Given the description of an element on the screen output the (x, y) to click on. 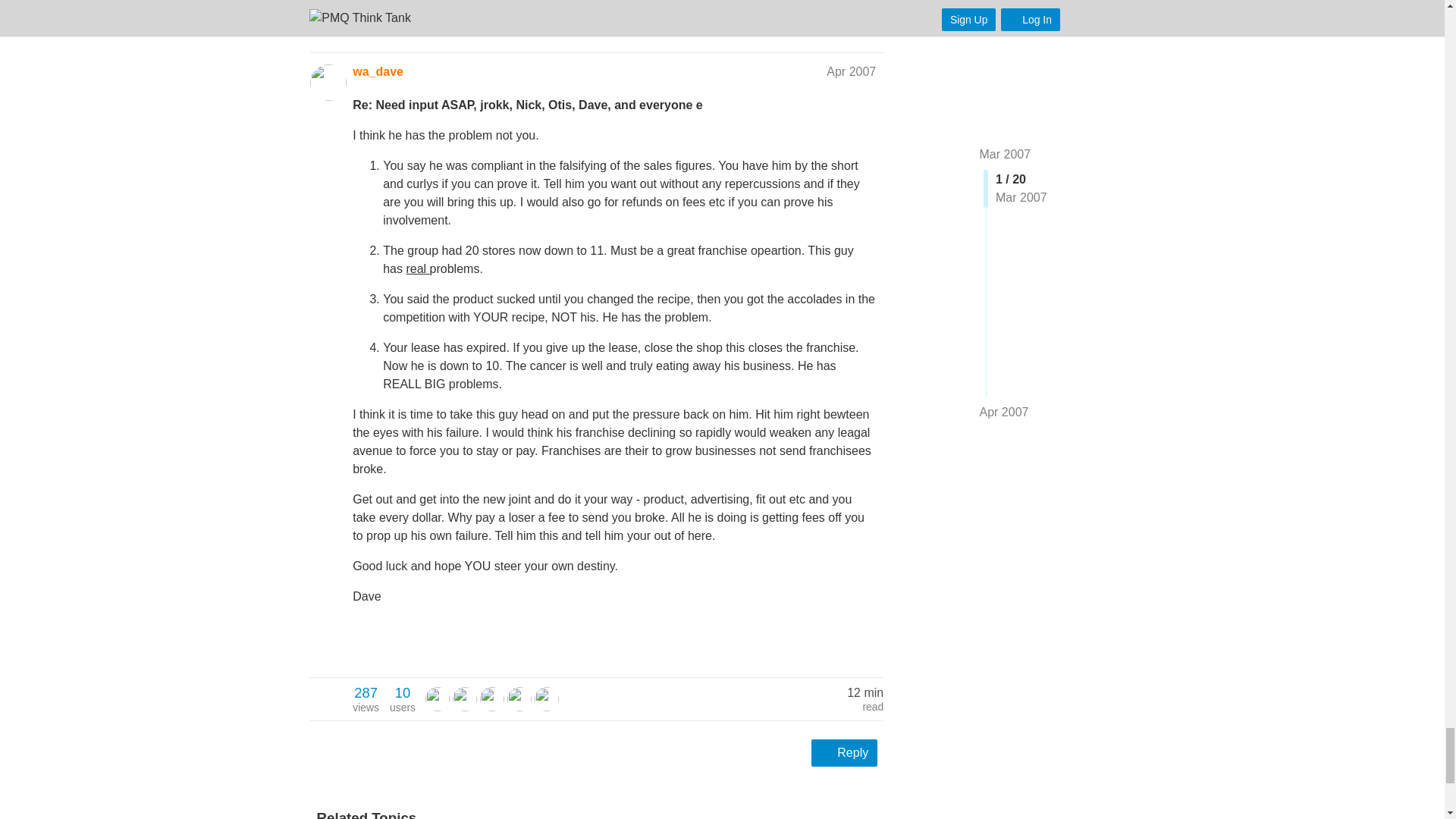
RobT (491, 699)
system (437, 699)
NicksPizza (518, 699)
wa dave (402, 698)
pizzatime (366, 698)
RobT (464, 699)
pizzatime (546, 698)
NicksPizza (491, 698)
system (546, 699)
